Given the description of an element on the screen output the (x, y) to click on. 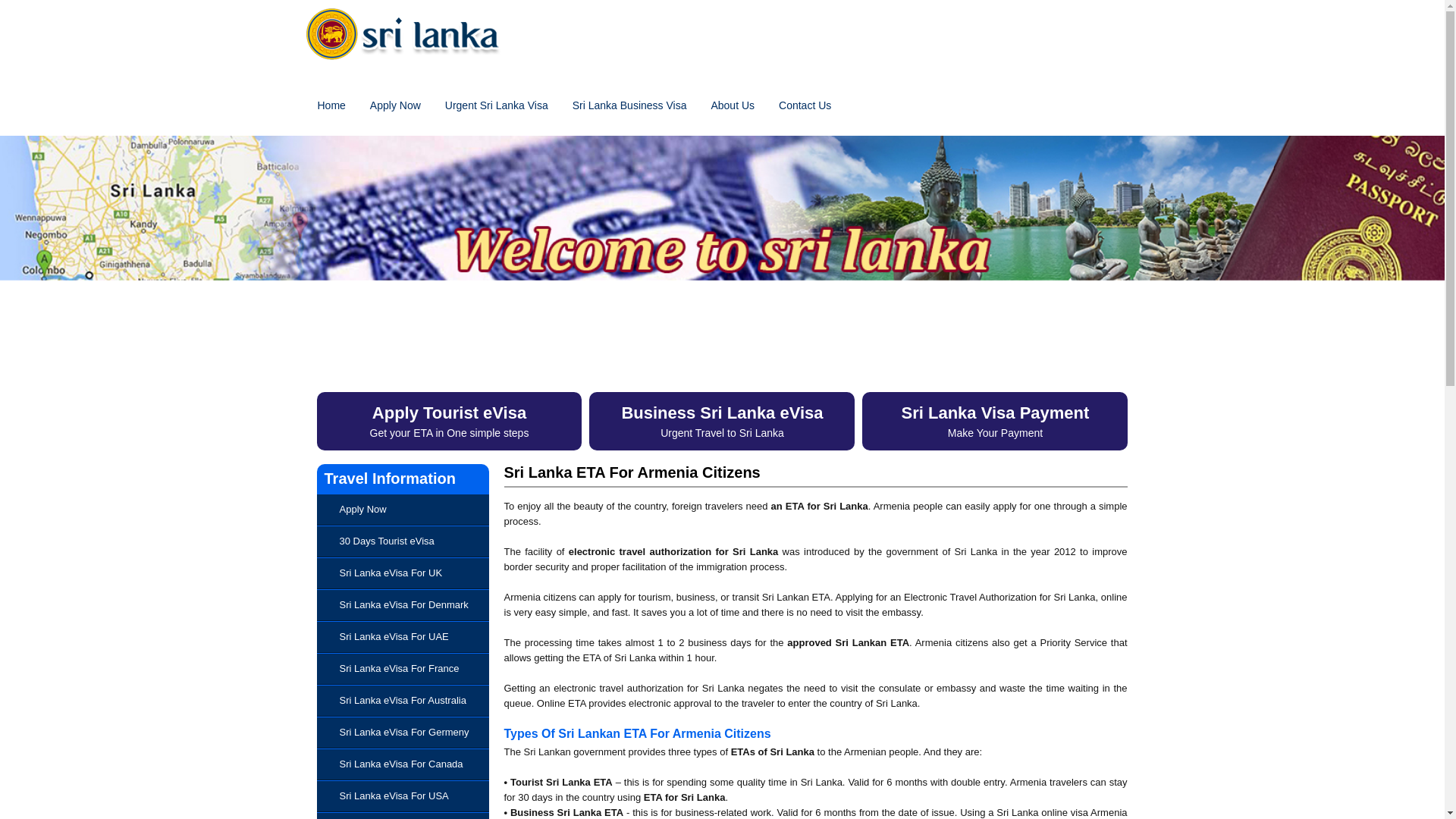
Sri Lanka eVisa For Australia (402, 699)
Sri Lanka For UK (390, 572)
Sri Lanka For UAE (393, 636)
Apply Now (394, 105)
Sri Lanka For Denmark (403, 604)
Sri Lanka Visa (408, 72)
30 Days Tourist eVisa (386, 541)
Sri Lanka For Germeny (403, 731)
Sri Lanka eVisa For UK (390, 572)
Sri Lanka eVisa For Canada (401, 763)
